Given the description of an element on the screen output the (x, y) to click on. 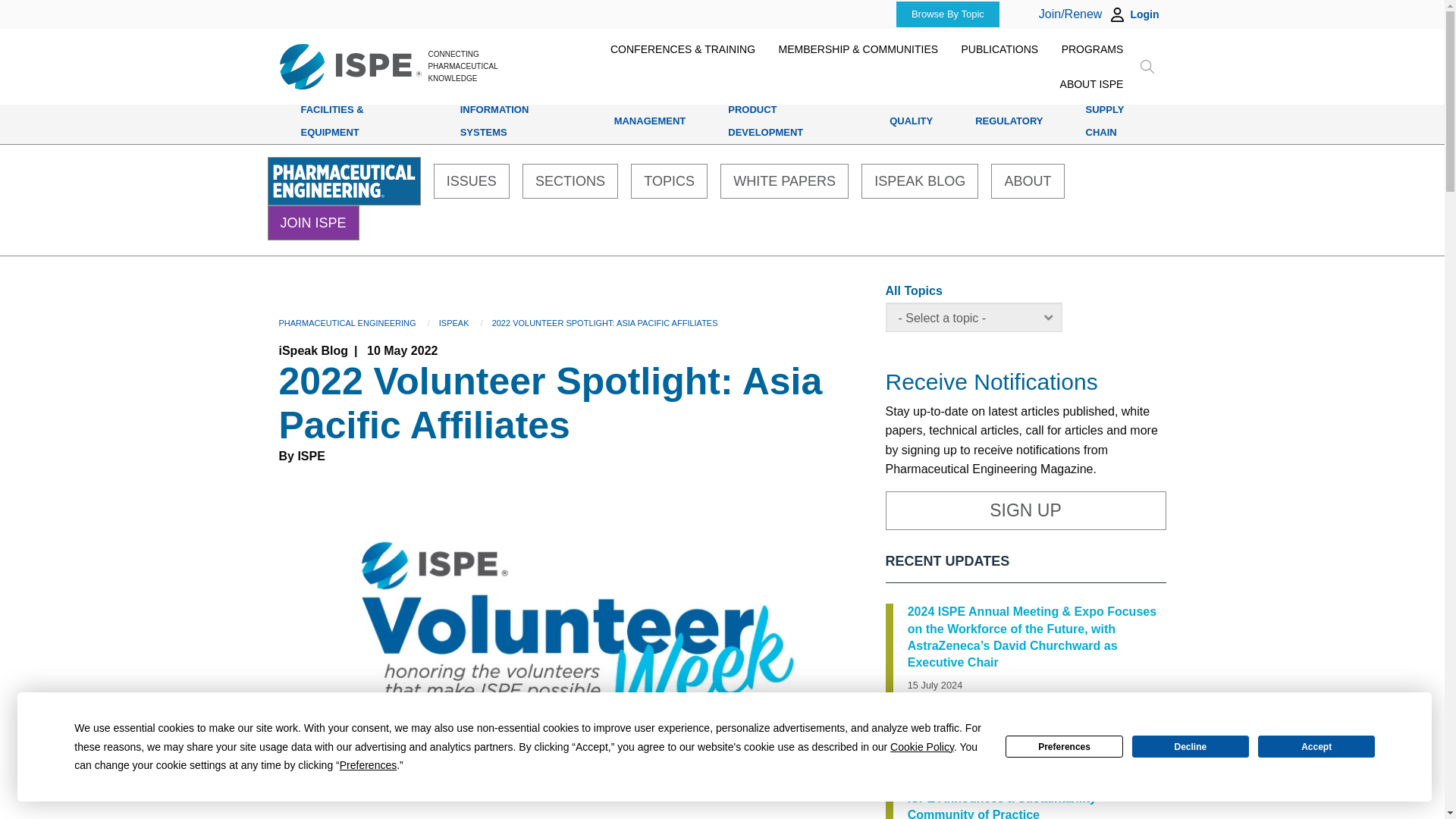
Browse By Topic (947, 14)
PUBLICATIONS (1000, 48)
Preferences (1064, 746)
Decline (1190, 746)
Login (1133, 14)
Home (350, 66)
Accept (1315, 746)
Login (1144, 14)
